Given the description of an element on the screen output the (x, y) to click on. 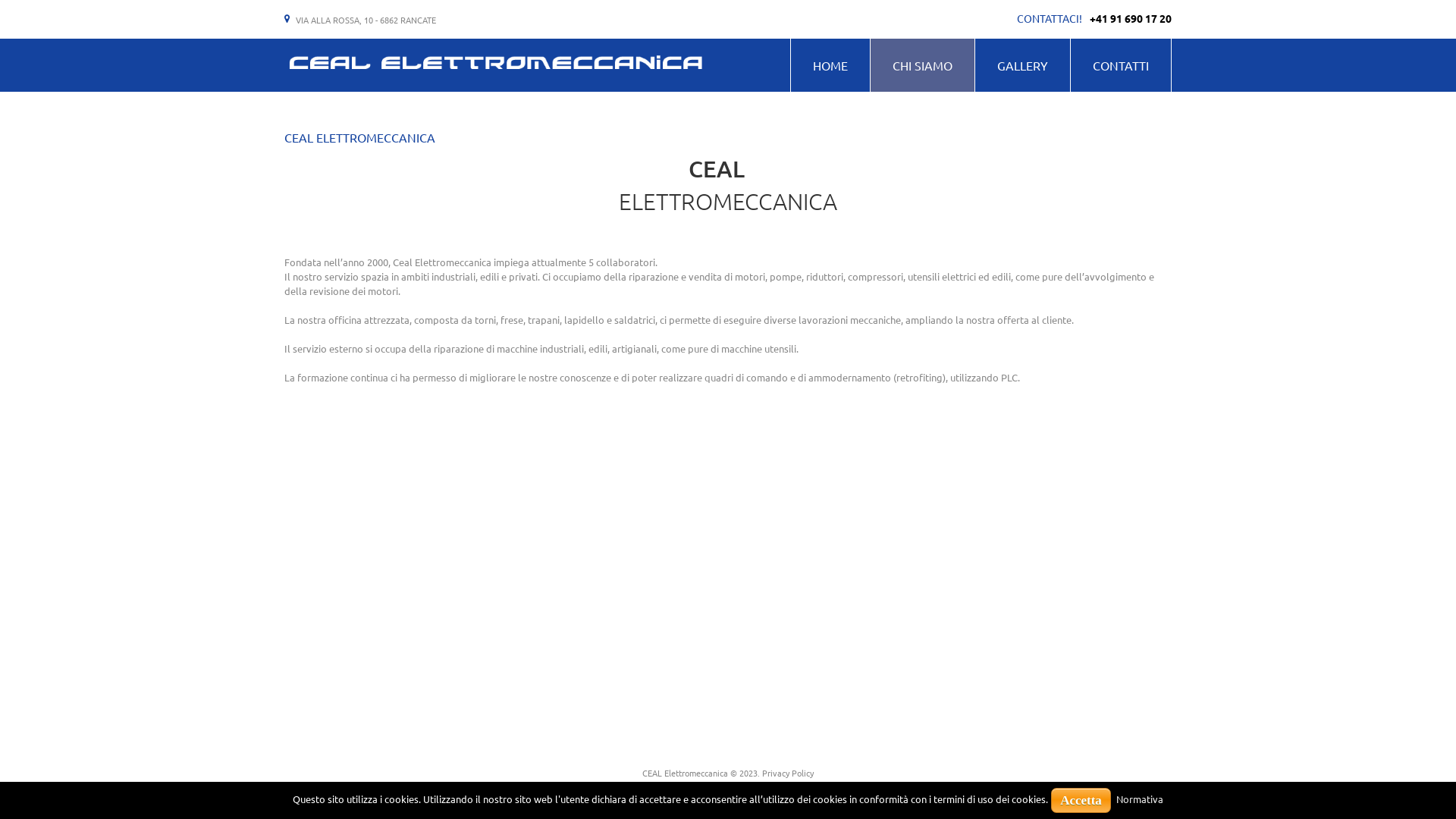
Normativa Element type: text (1139, 798)
CONTATTACI! Element type: text (1049, 18)
Accetta Element type: text (1080, 799)
Privacy Policy Element type: text (787, 772)
MAP-MARKER Element type: text (286, 19)
CHI SIAMO Element type: text (922, 64)
GALLERY Element type: text (1022, 64)
CONTATTI Element type: text (1120, 64)
HOME Element type: text (829, 64)
